Given the description of an element on the screen output the (x, y) to click on. 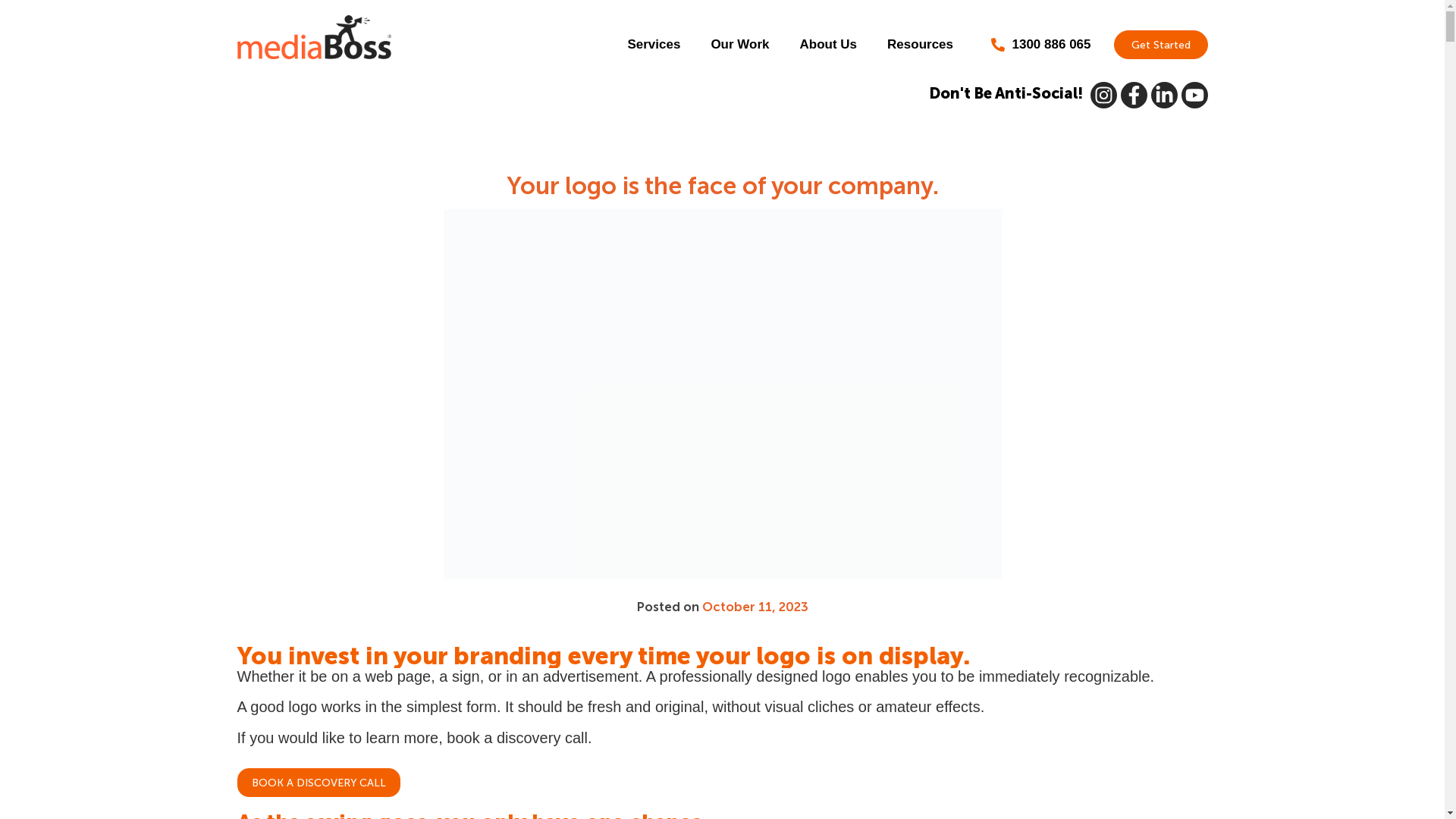
Get Started Element type: text (1160, 44)
1300 886 065 Element type: text (1041, 44)
Your logo is the face of your company. Element type: text (722, 185)
About Us Element type: text (828, 44)
Resources Element type: text (920, 44)
Services Element type: text (653, 44)
October 11, 2023 Element type: text (755, 606)
BOOK A DISCOVERY CALL Element type: text (317, 782)
Our Work Element type: text (739, 44)
